Given the description of an element on the screen output the (x, y) to click on. 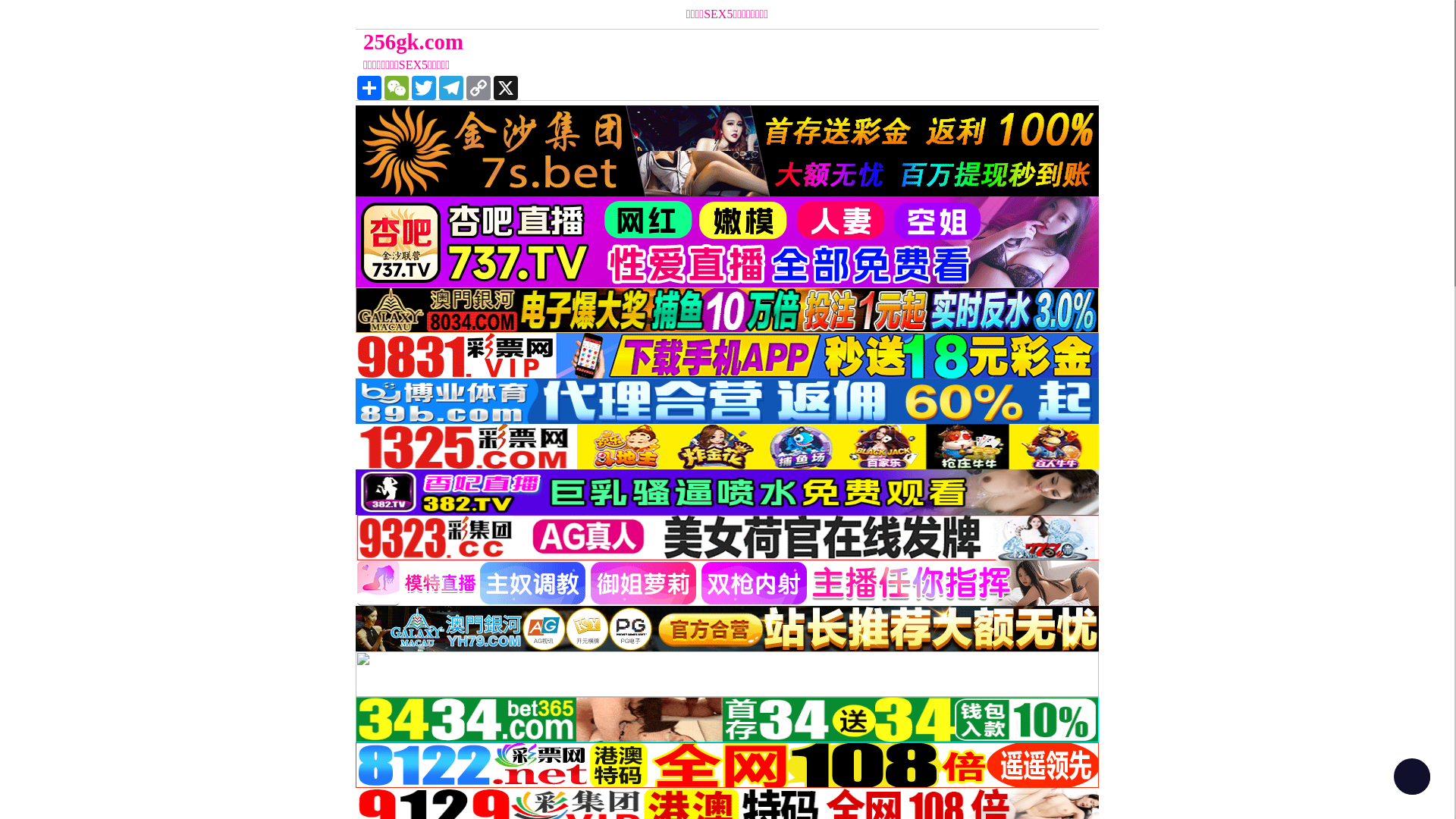
Telegram Element type: text (450, 87)
256gk.com Element type: text (634, 41)
Copy Link Element type: text (478, 87)
X Element type: text (505, 87)
Twitter Element type: text (423, 87)
WeChat Element type: text (396, 87)
